Given the description of an element on the screen output the (x, y) to click on. 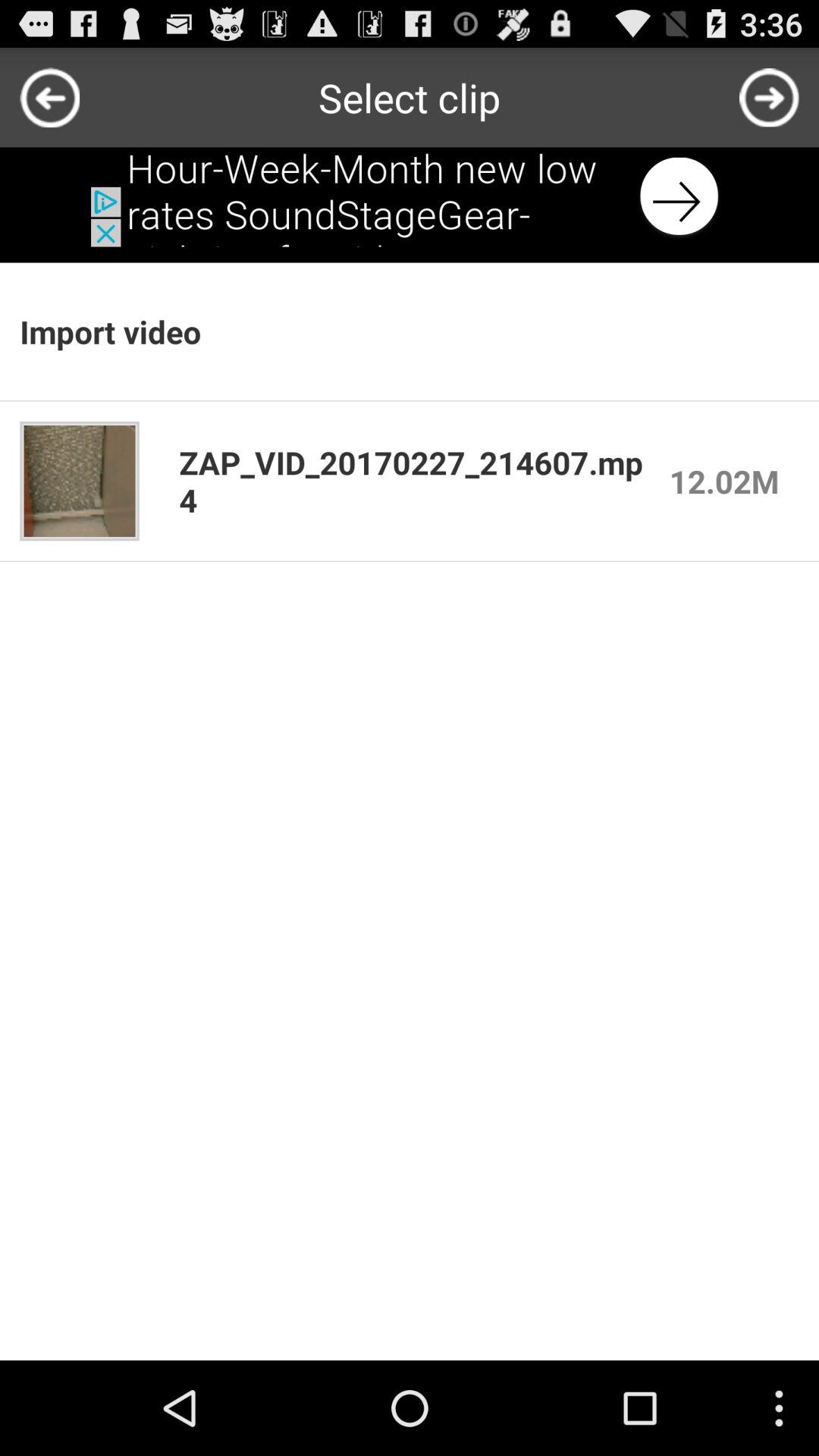
next button (409, 196)
